Given the description of an element on the screen output the (x, y) to click on. 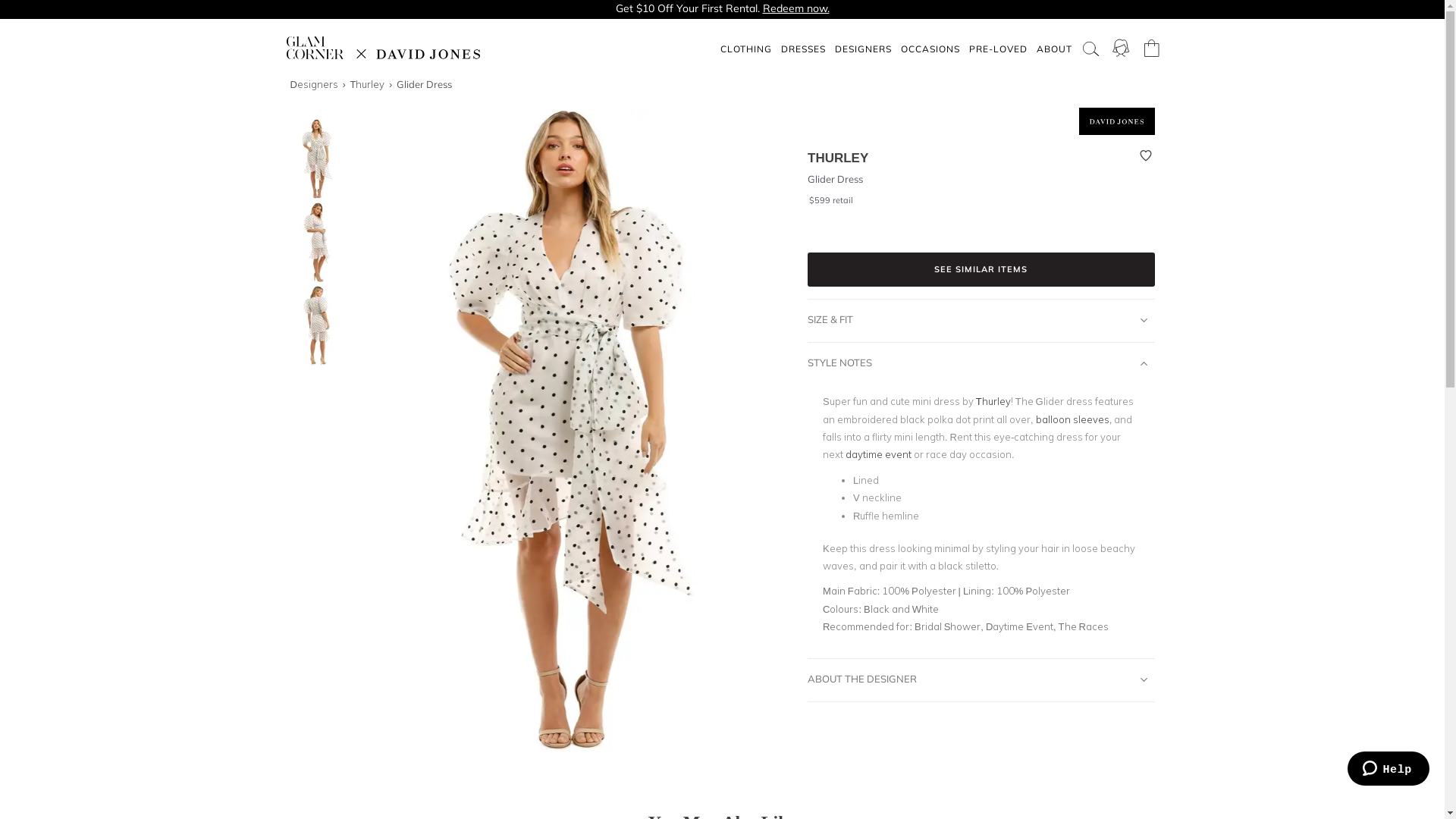
balloon sleeves Element type: text (1072, 419)
PRE-LOVED Element type: text (998, 48)
Designers Element type: text (314, 84)
Thurley Glider Dress Polkadot Black and White Element type: hover (312, 325)
Thurley Element type: text (367, 84)
Thurley Glider Dress Black and White Polkadot Embroidery Element type: hover (312, 158)
STYLE NOTES Element type: text (980, 359)
  Help Element type: text (1388, 768)
SEE SIMILAR ITEMS Element type: text (980, 269)
CLOTHING Element type: text (745, 48)
Rent Designer Dresses Online - Glam Corner Element type: hover (383, 47)
Thurley Element type: text (992, 401)
DRESSES Element type: text (803, 48)
Redeem now. Element type: text (795, 8)
ABOUT Element type: text (1053, 48)
OCCASIONS Element type: text (930, 48)
THURLEY Element type: text (837, 157)
DESIGNERS Element type: text (862, 48)
daytime event Element type: text (878, 454)
SIZE & FIT Element type: text (980, 316)
ABOUT THE DESIGNER Element type: text (980, 675)
Thurley Glider Dress Black and White Polkadot Embroidery Element type: hover (312, 242)
